Given the description of an element on the screen output the (x, y) to click on. 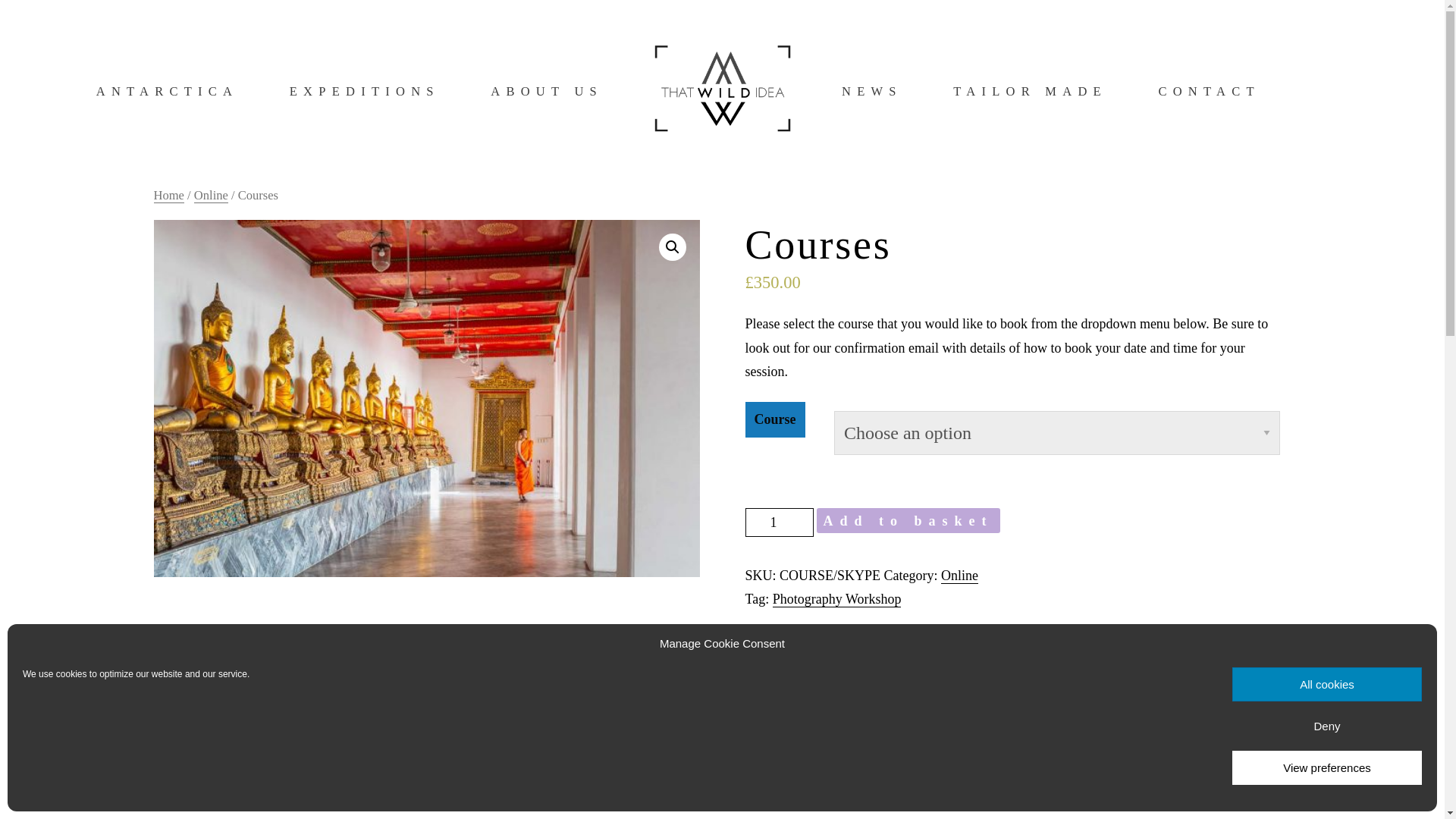
ANTARCTICA (167, 91)
TAILOR MADE (1029, 91)
Online (959, 575)
EXPEDITIONS (364, 91)
All cookies (1326, 684)
Add to basket (906, 519)
Home (167, 195)
View preferences (1326, 767)
ABOUT US (546, 91)
Online (210, 195)
1 (778, 522)
Description (186, 656)
Additional information (309, 656)
CONTACT (1208, 91)
Photography Workshop (837, 598)
